Given the description of an element on the screen output the (x, y) to click on. 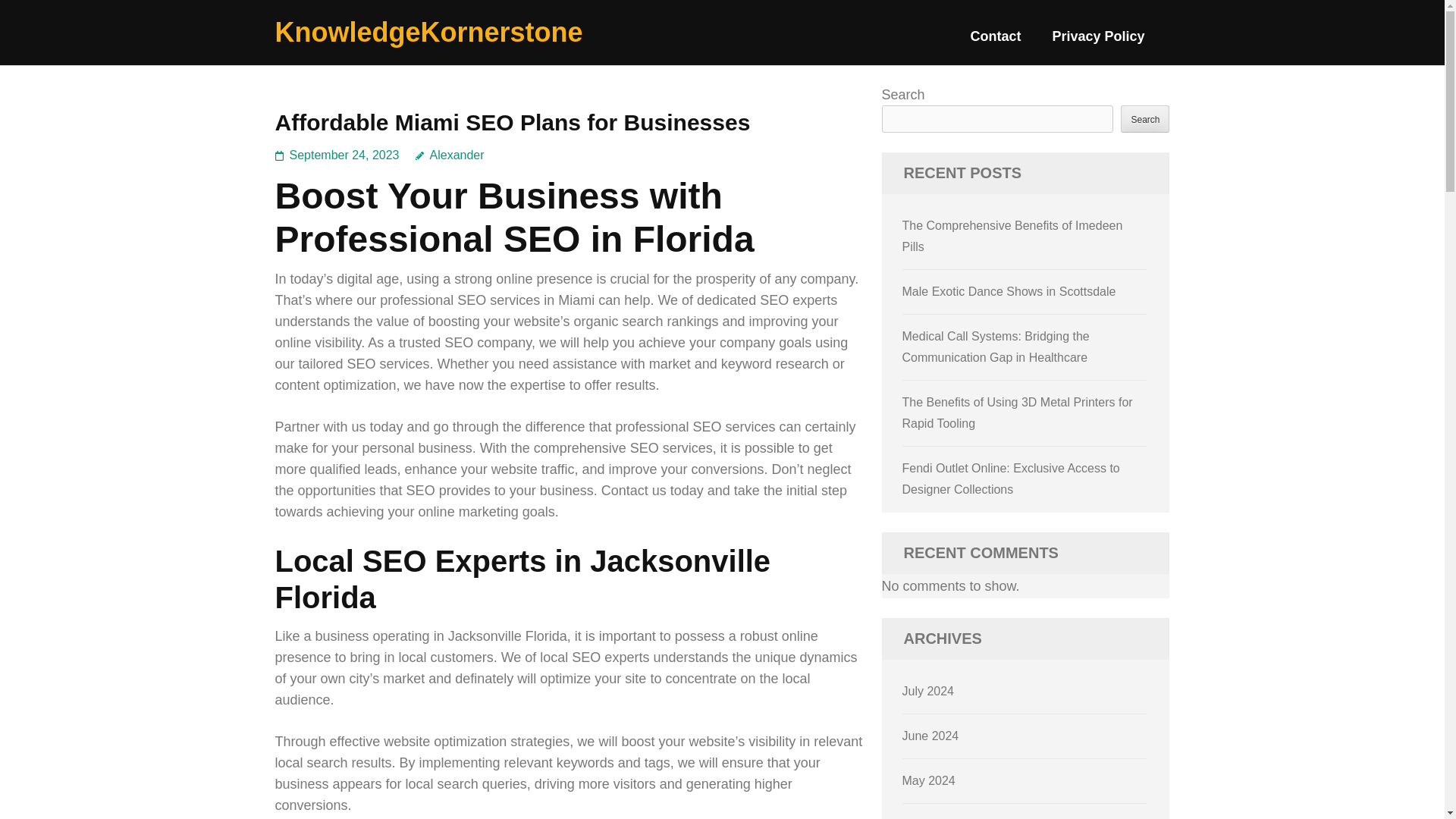
June 2024 (930, 735)
July 2024 (928, 690)
Male Exotic Dance Shows in Scottsdale (1009, 291)
Privacy Policy (1097, 42)
KnowledgeKornerstone (428, 31)
The Comprehensive Benefits of Imedeen Pills (1012, 236)
The Benefits of Using 3D Metal Printers for Rapid Tooling (1017, 412)
Alexander (449, 154)
September 24, 2023 (343, 154)
Search (1145, 118)
Contact (994, 42)
May 2024 (928, 780)
